Given the description of an element on the screen output the (x, y) to click on. 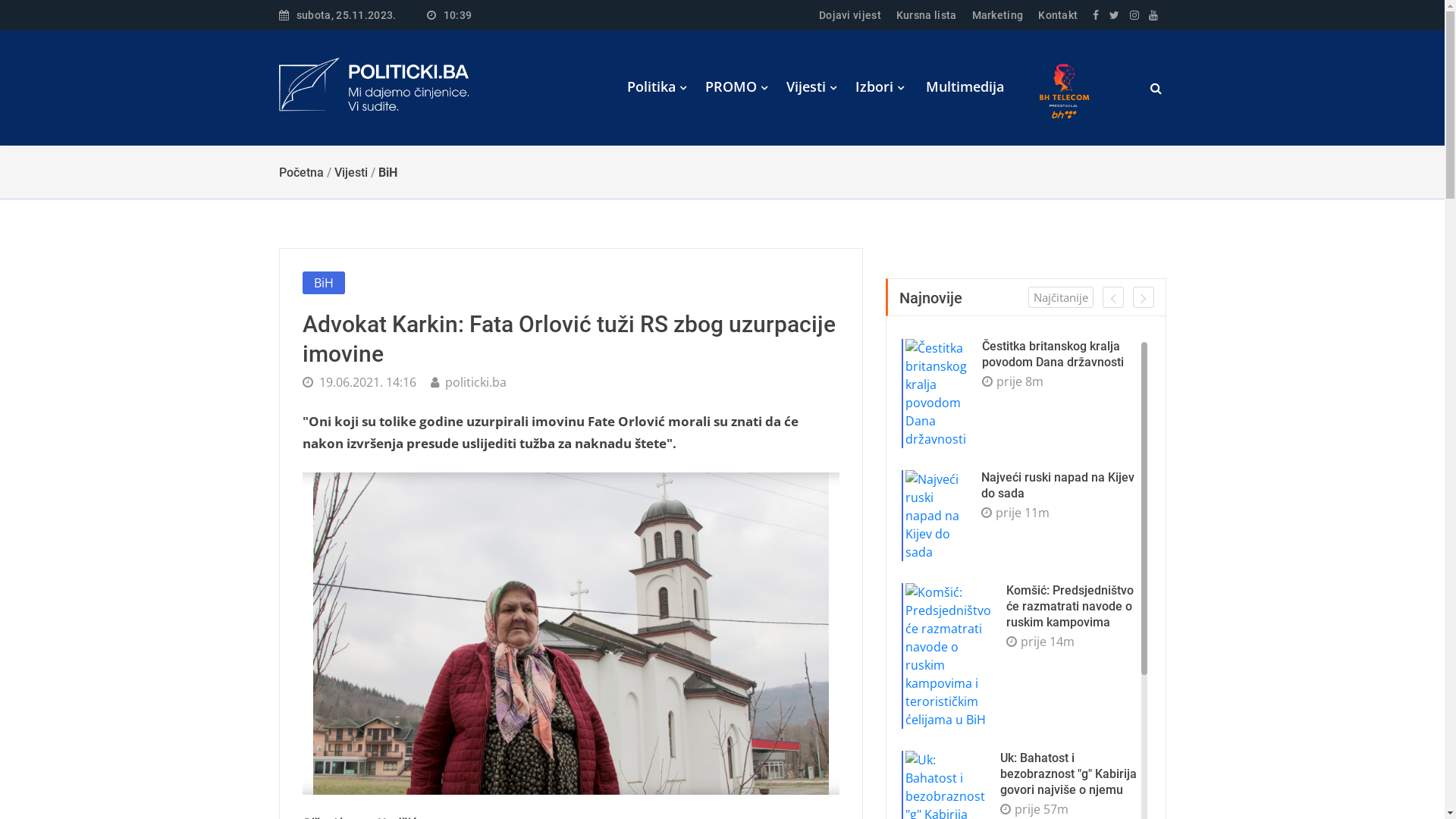
Vijesti Element type: text (810, 86)
Politika Element type: text (655, 86)
BiH Element type: text (386, 172)
Multimedija Element type: text (964, 86)
Dojavi vijest Element type: text (850, 15)
Kontakt Element type: text (1057, 15)
Marketing Element type: text (997, 15)
PROMO Element type: text (736, 86)
Vijesti Element type: text (350, 172)
Izbori Element type: text (879, 86)
politicki.ba Element type: text (468, 381)
BiH Element type: text (322, 282)
Kursna lista Element type: text (926, 15)
